Given the description of an element on the screen output the (x, y) to click on. 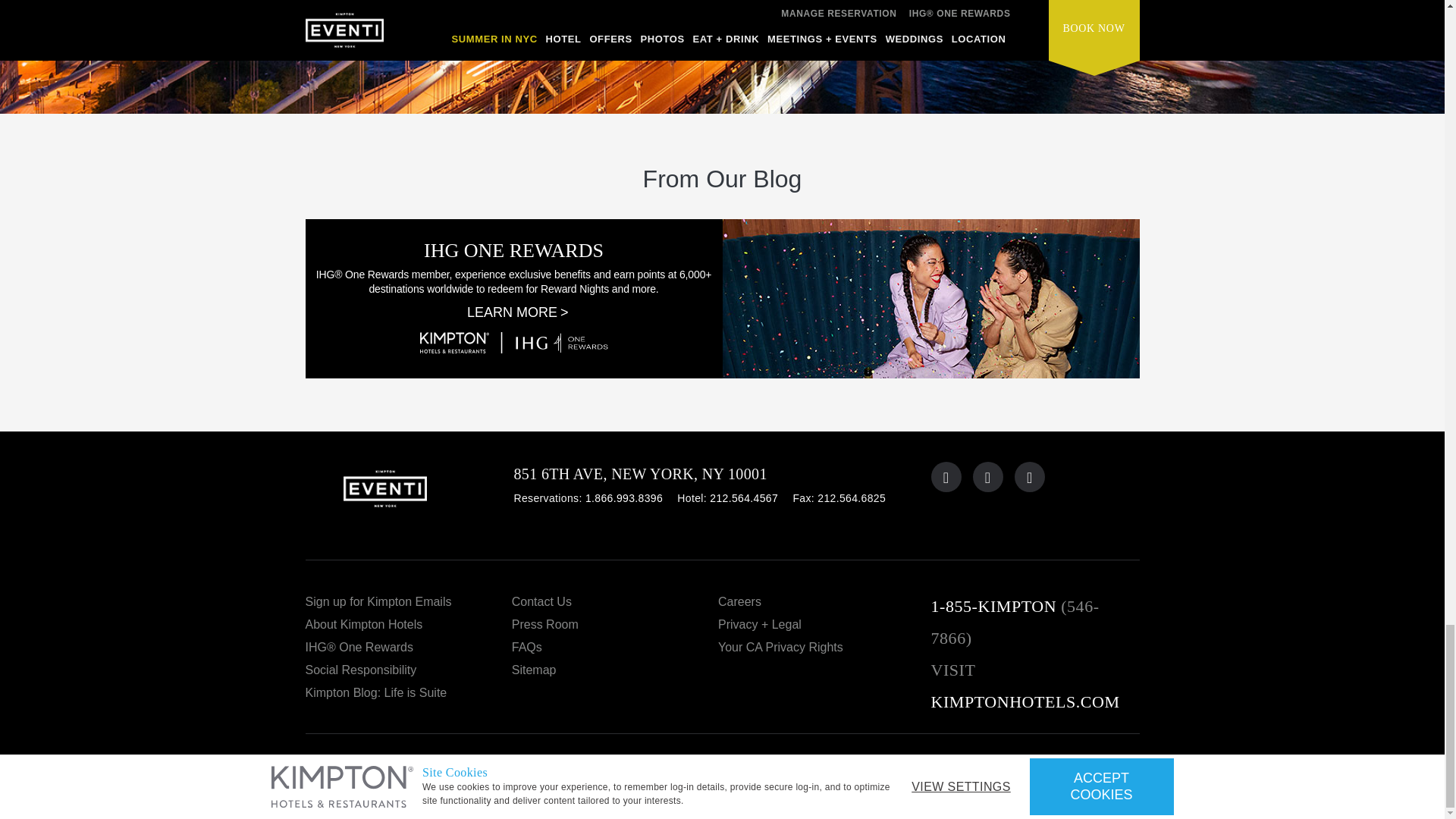
Eventi Hotel on Facebook (987, 476)
Eventi Hotel on Twitter (945, 476)
Translate this page (1107, 775)
Eventi Hotel on Instagram (1029, 476)
Home (408, 495)
